Given the description of an element on the screen output the (x, y) to click on. 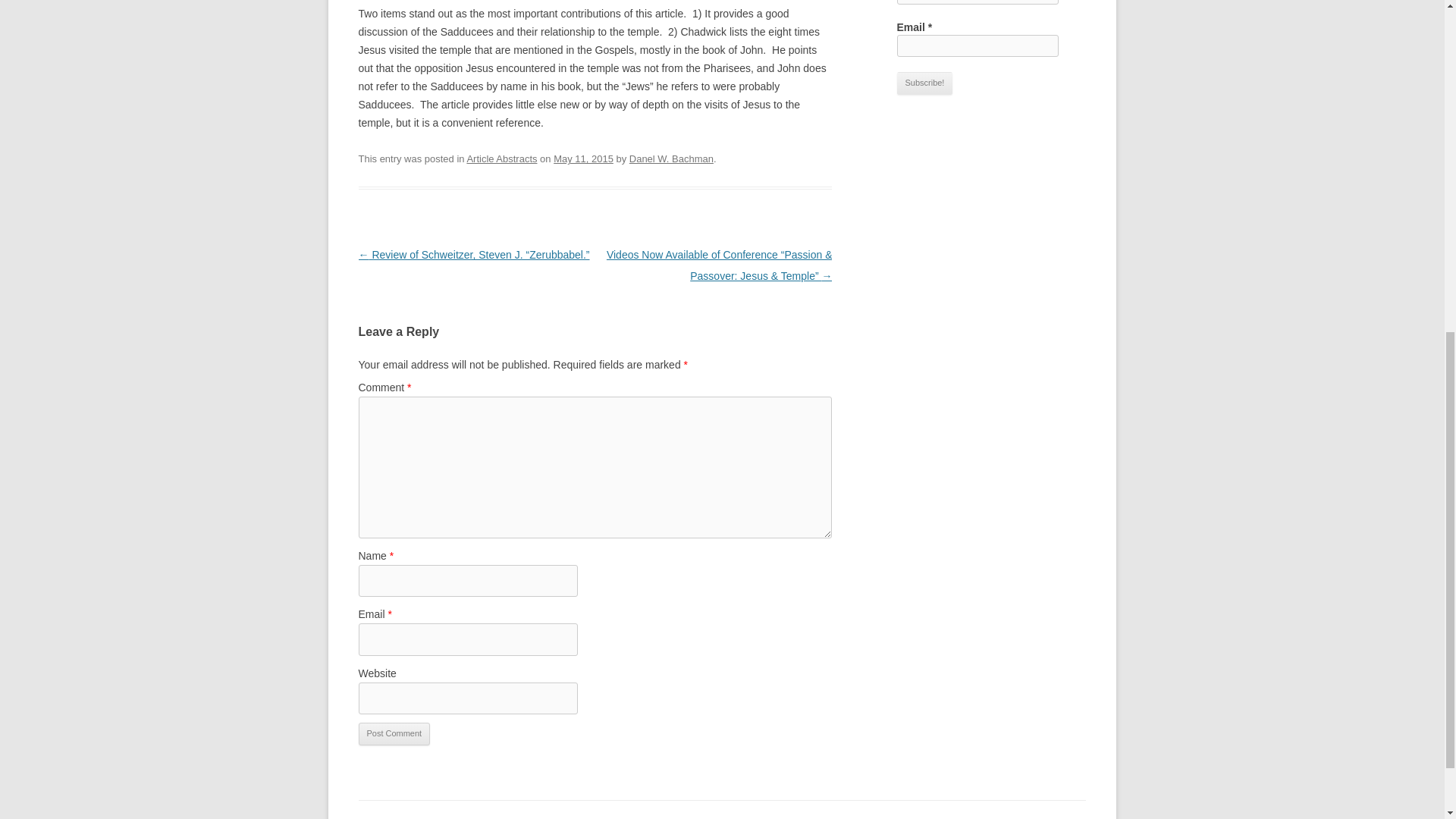
Subscribe! (924, 83)
Post Comment (393, 733)
View all posts by Danel W. Bachman (670, 158)
6:07 pm (582, 158)
Email (977, 45)
Last name (977, 2)
